Given the description of an element on the screen output the (x, y) to click on. 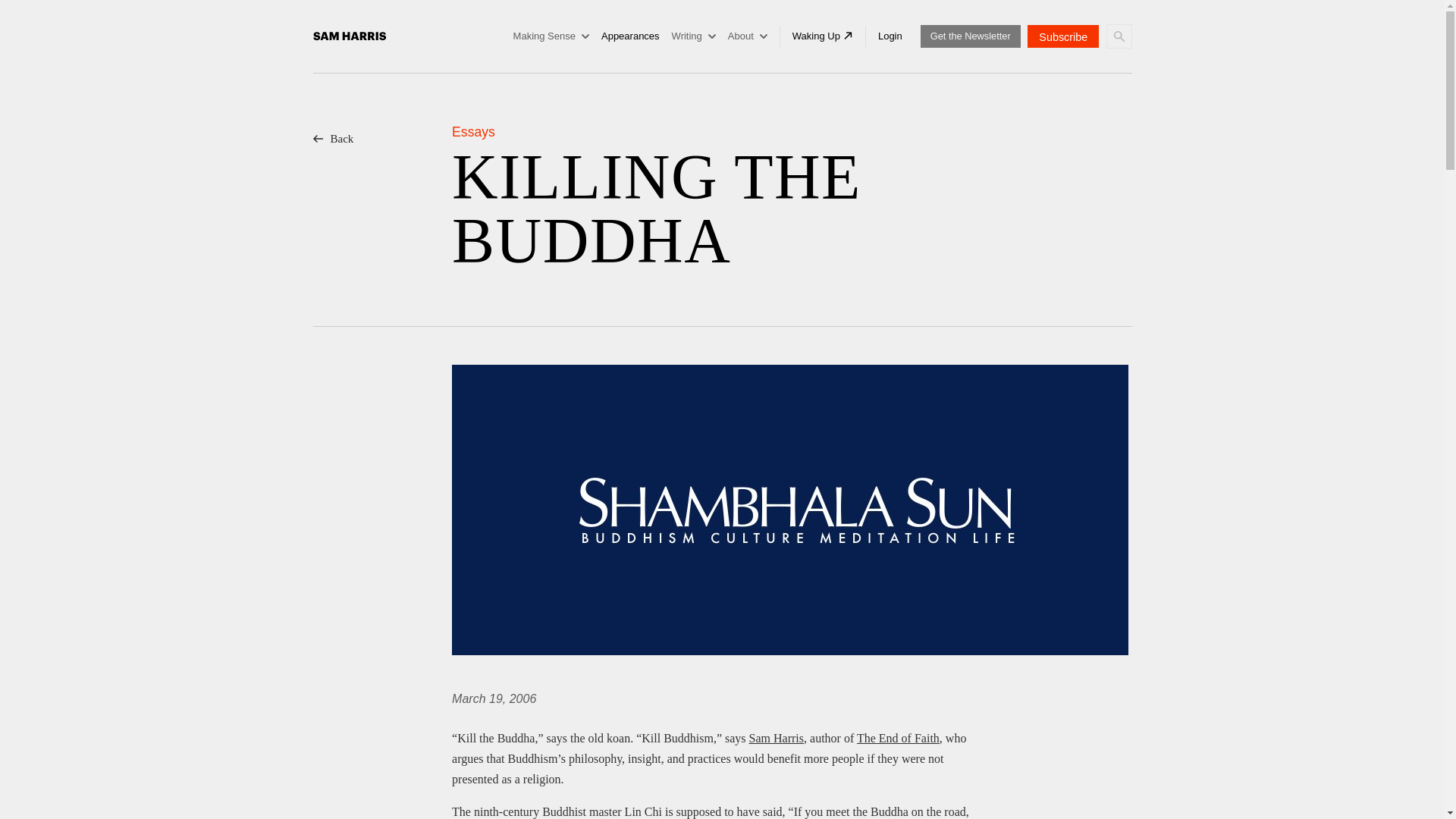
Back (382, 197)
About (747, 36)
The End of Faith (898, 738)
Login (889, 35)
Get the Newsletter (970, 36)
Making Sense (551, 36)
Writing (693, 36)
Sam Harris (776, 738)
Waking Up (822, 36)
Subscribe (1063, 36)
Appearances (630, 36)
